Given the description of an element on the screen output the (x, y) to click on. 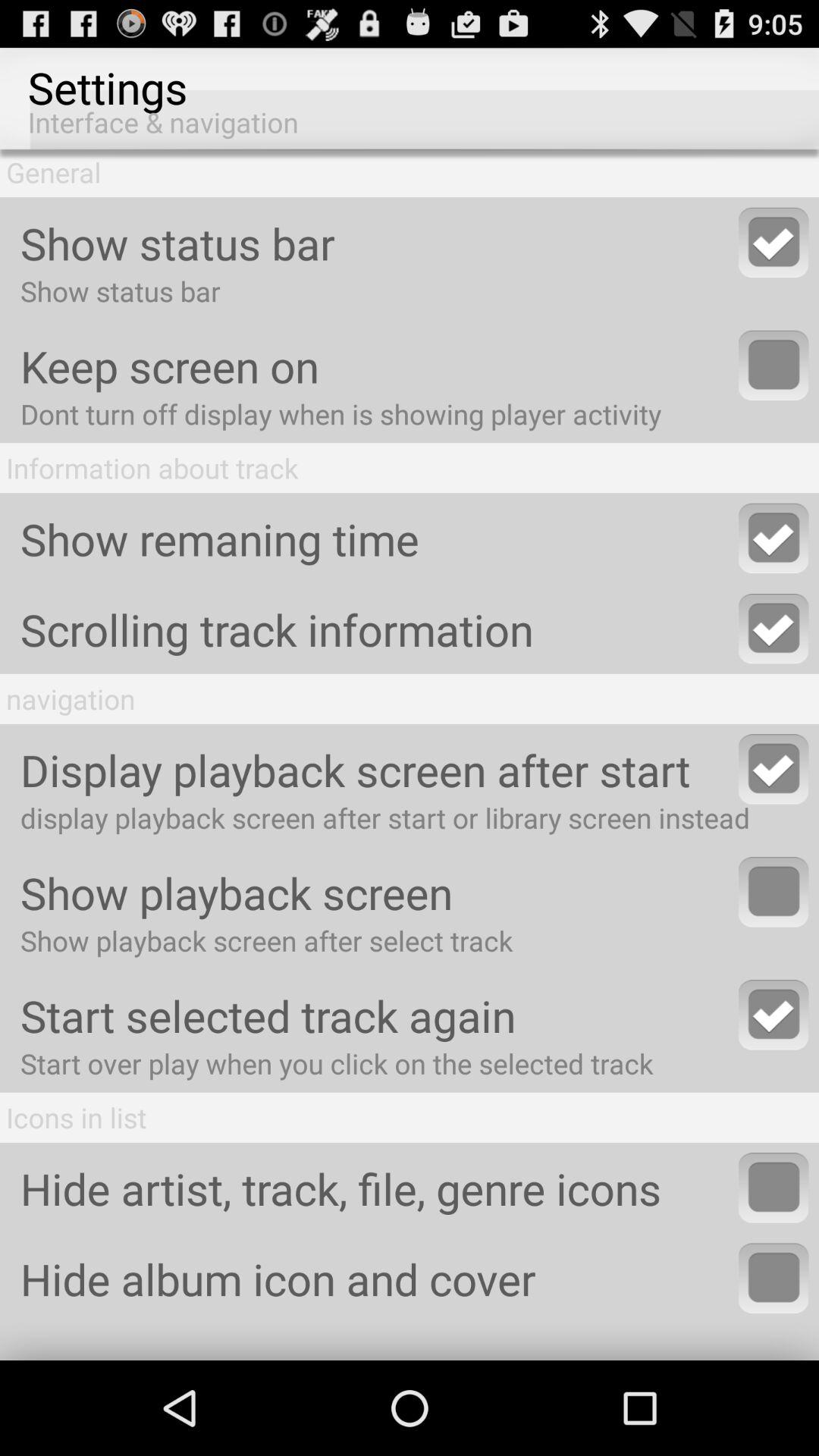
toggle playback screen option (773, 892)
